Given the description of an element on the screen output the (x, y) to click on. 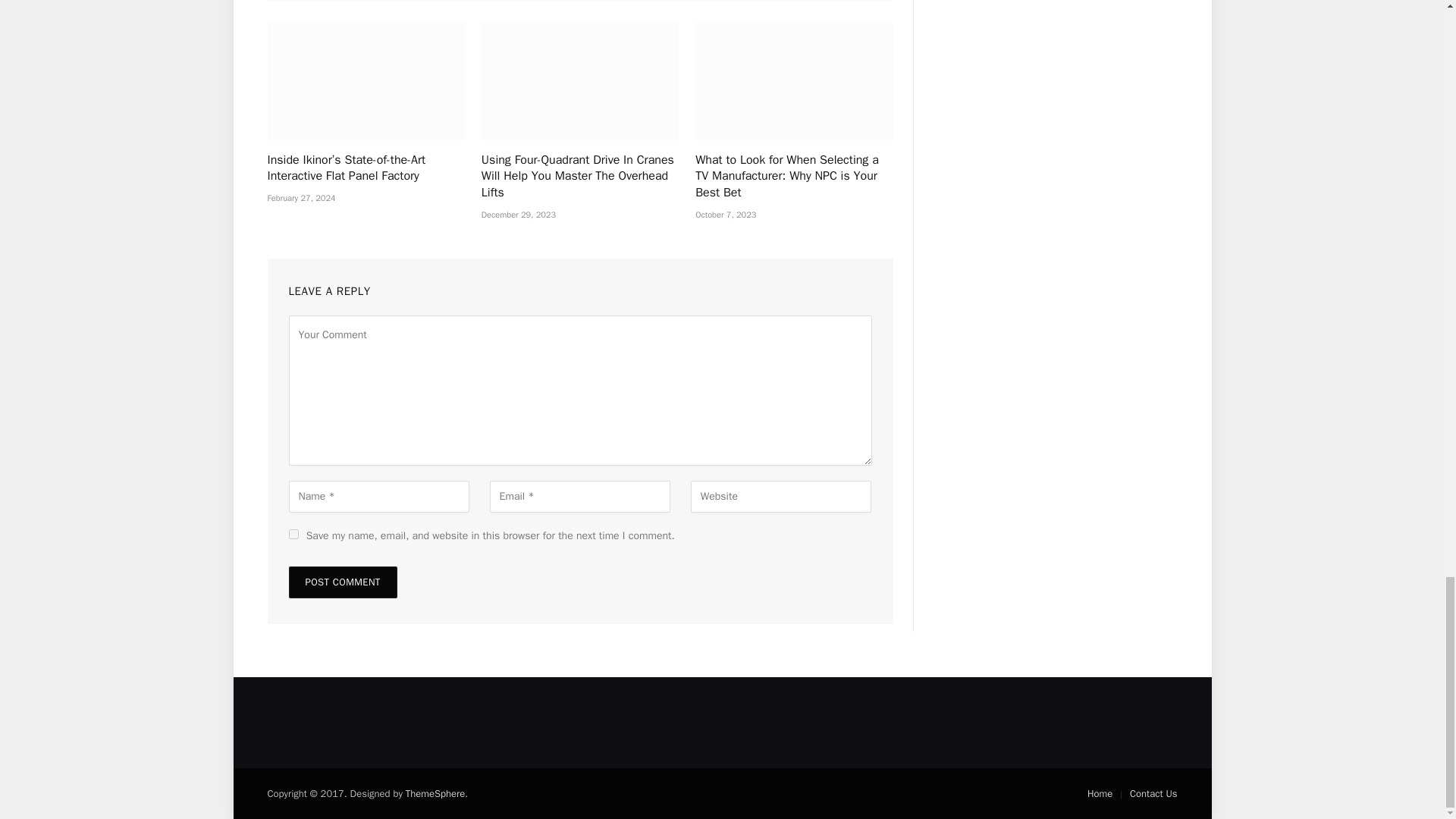
yes (293, 533)
Post Comment (342, 582)
